Given the description of an element on the screen output the (x, y) to click on. 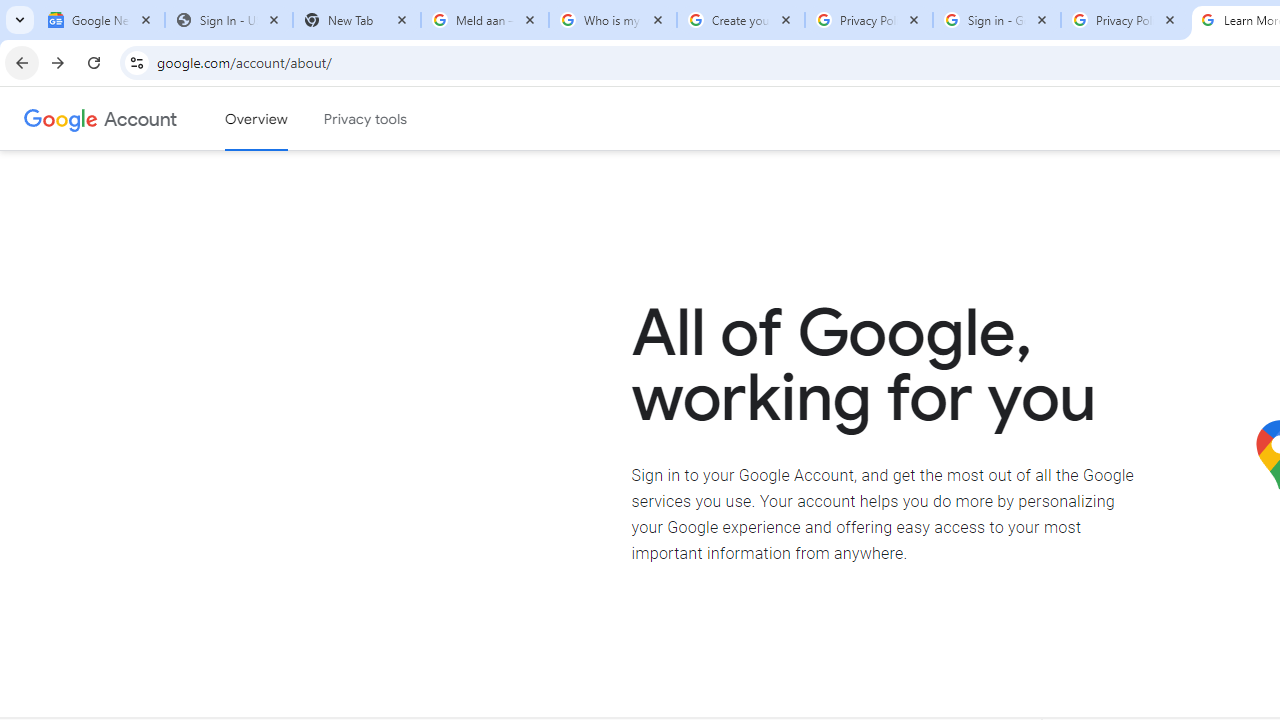
New Tab (357, 20)
Privacy tools (365, 119)
Sign In - USA TODAY (229, 20)
Sign in - Google Accounts (997, 20)
Google logo (61, 118)
Skip to Content (285, 115)
Google Account overview (256, 119)
